Given the description of an element on the screen output the (x, y) to click on. 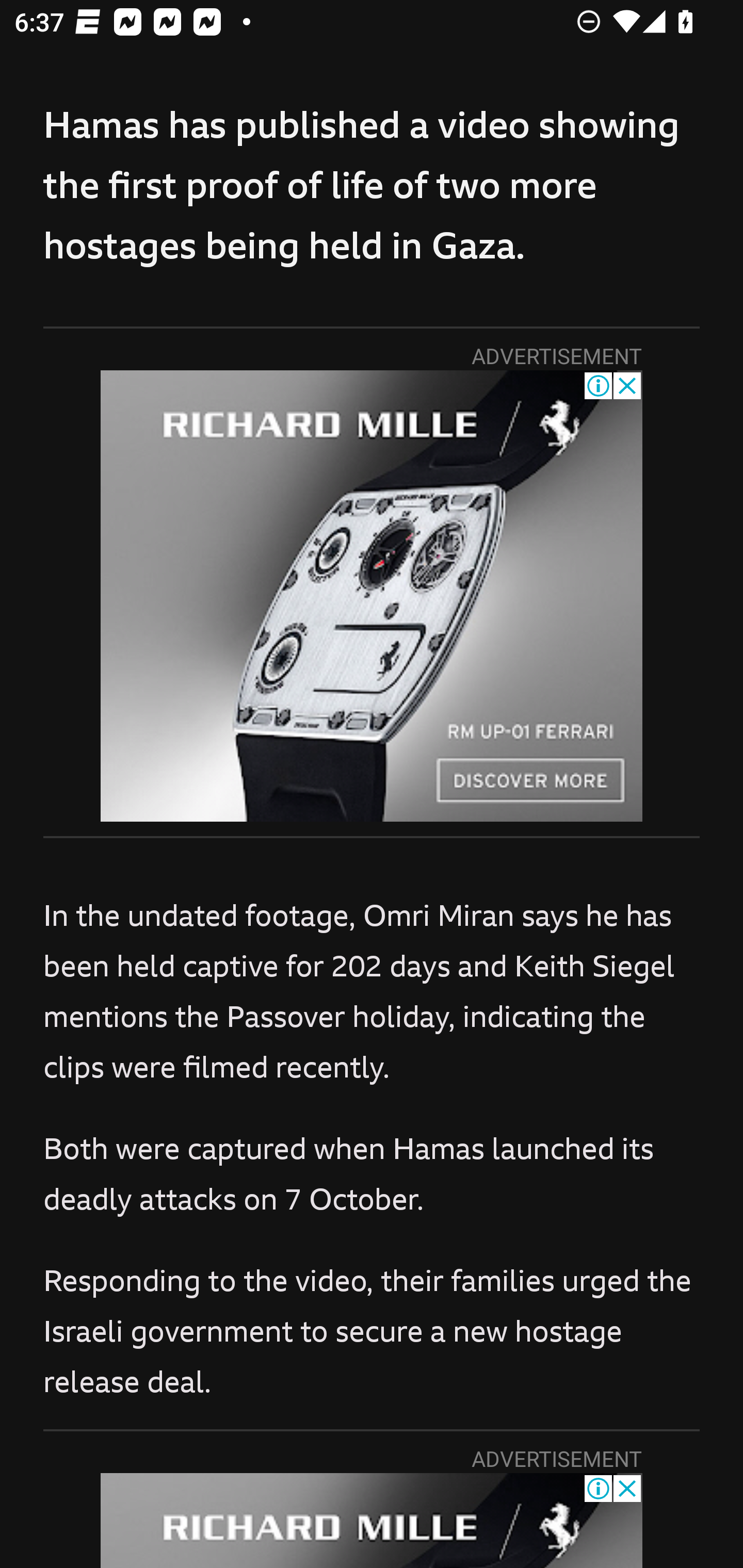
Advertisement (371, 595)
